Given the description of an element on the screen output the (x, y) to click on. 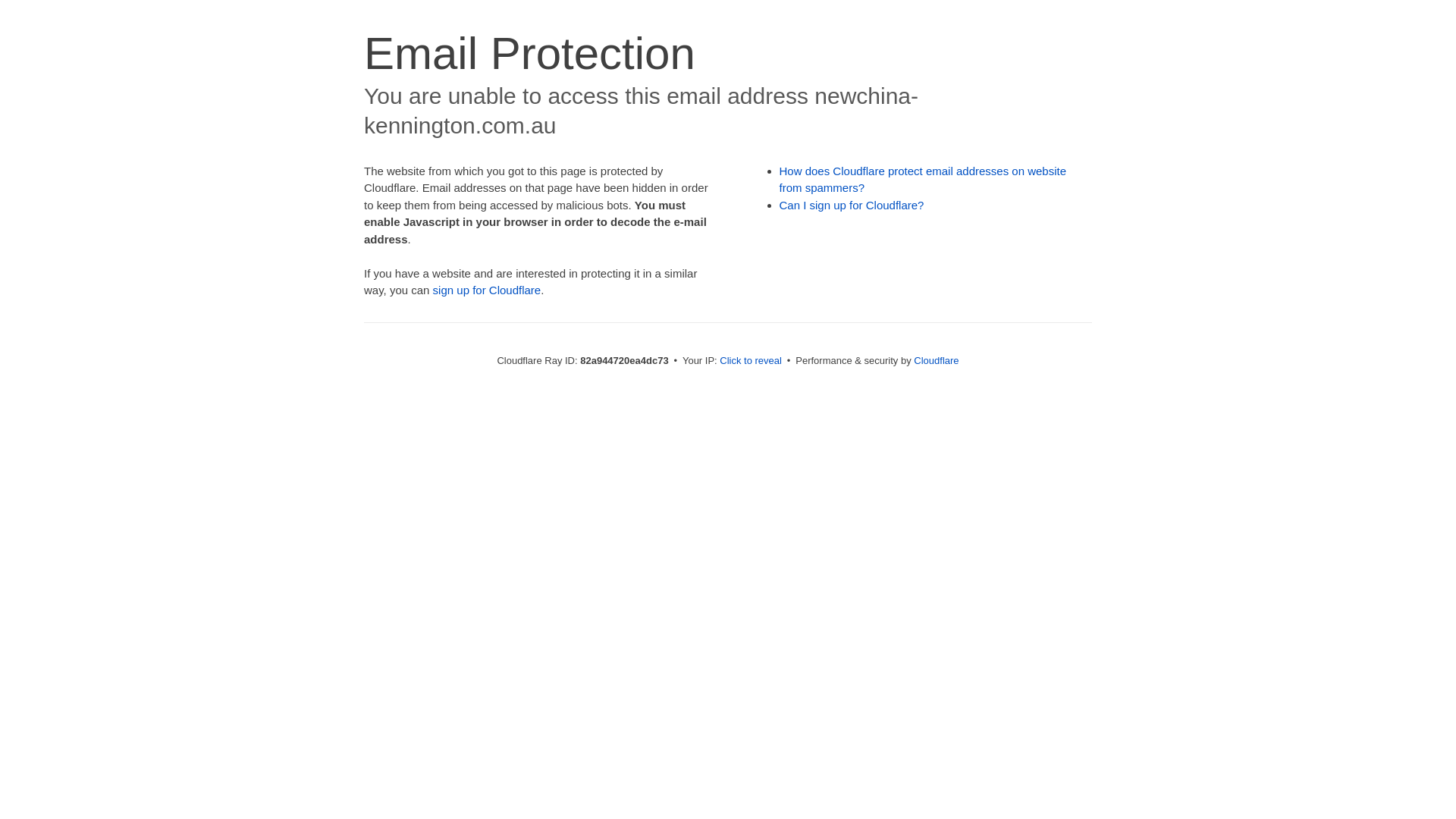
Click to reveal Element type: text (750, 360)
sign up for Cloudflare Element type: text (487, 289)
Can I sign up for Cloudflare? Element type: text (851, 204)
Cloudflare Element type: text (935, 360)
